Given the description of an element on the screen output the (x, y) to click on. 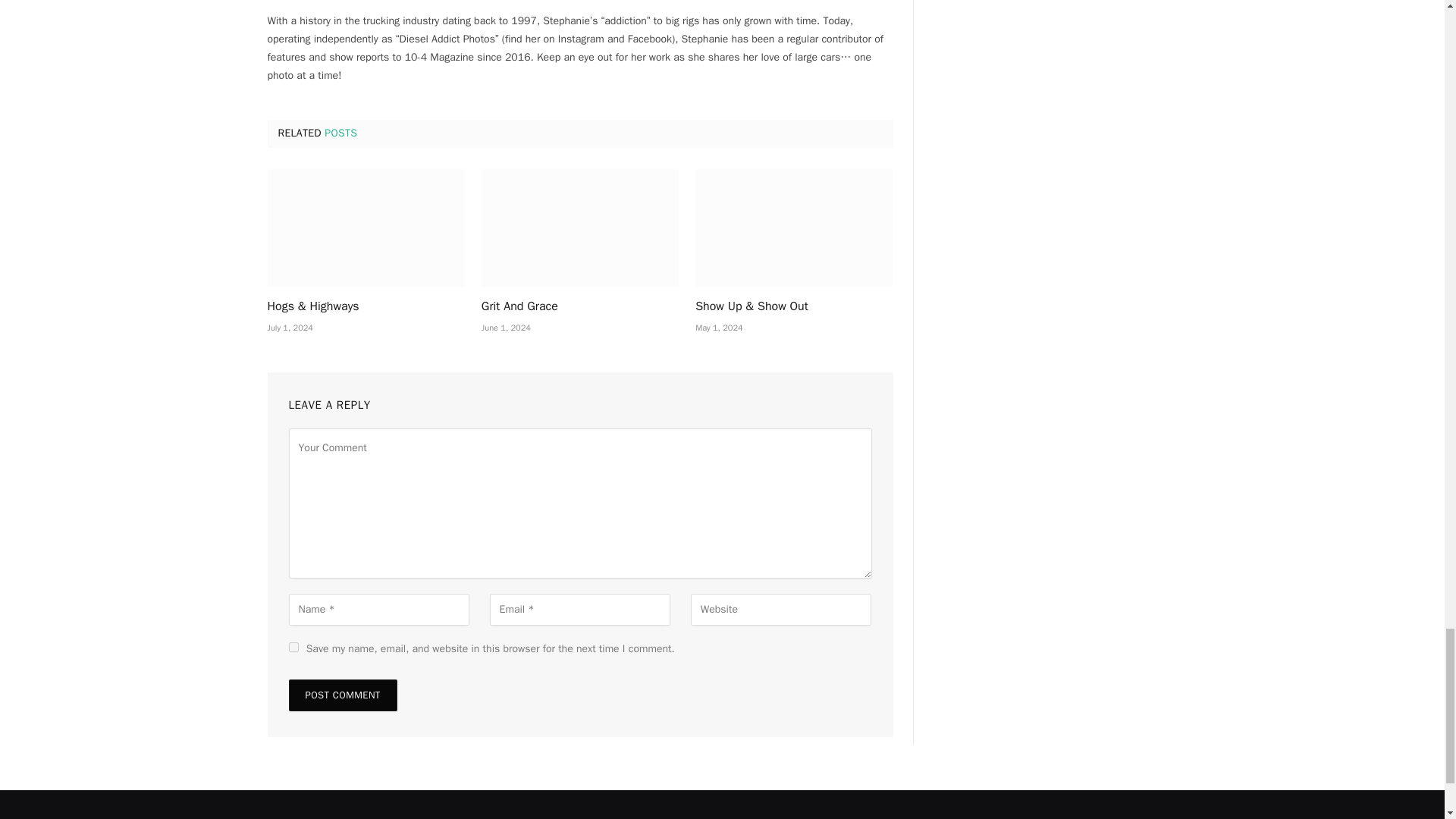
yes (293, 646)
Post Comment (342, 695)
